Given the description of an element on the screen output the (x, y) to click on. 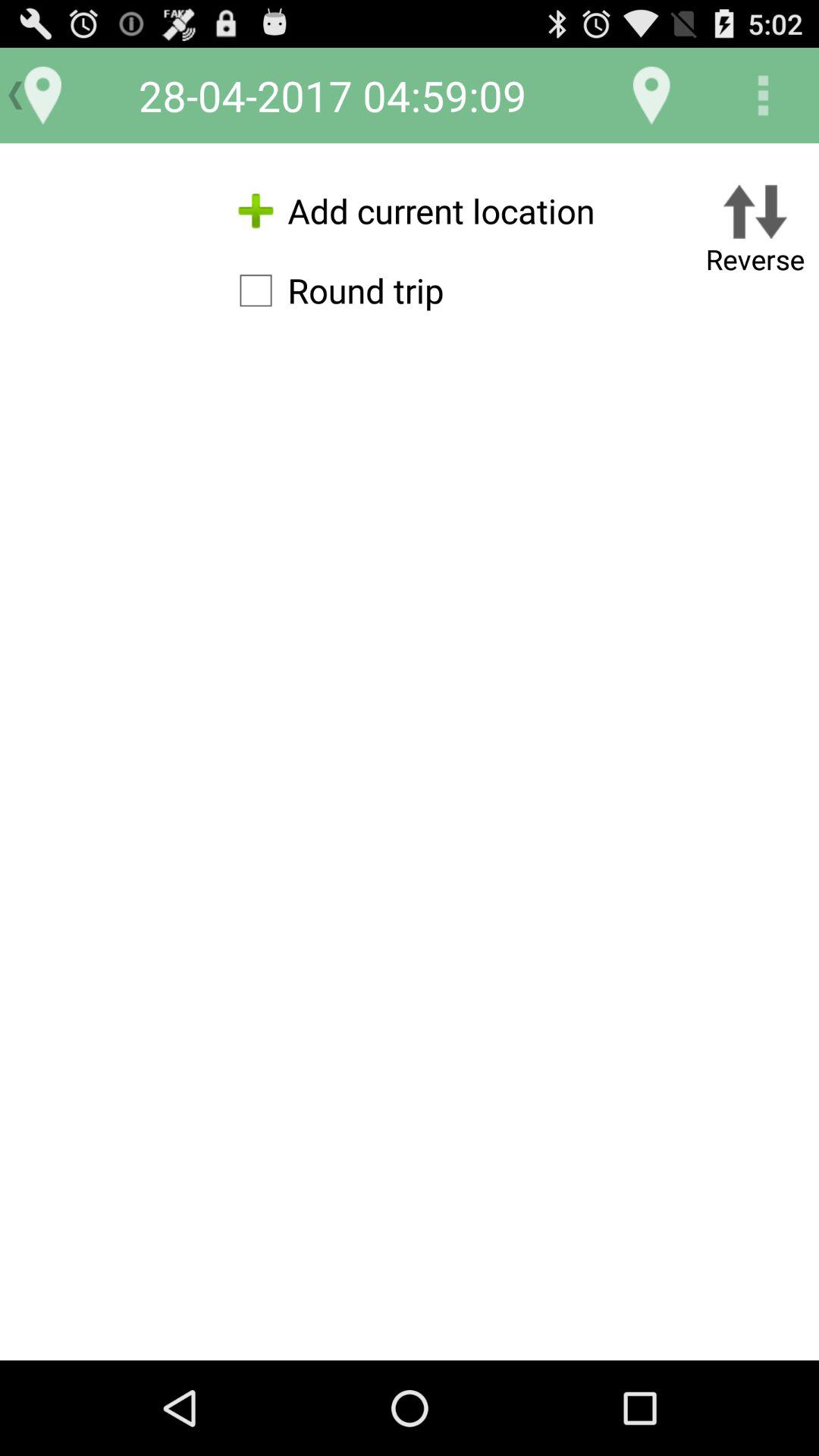
flip to the reverse button (755, 232)
